Given the description of an element on the screen output the (x, y) to click on. 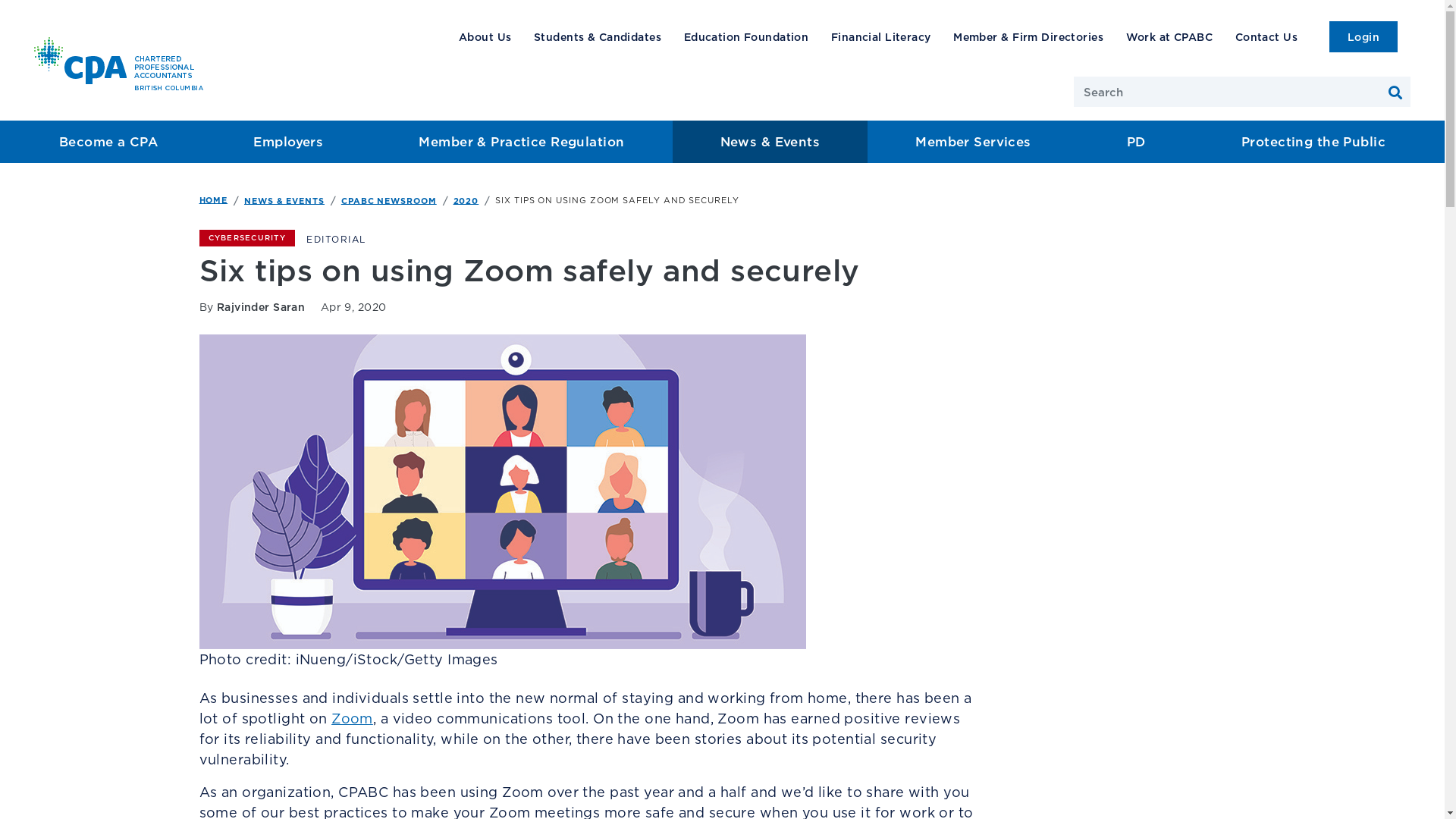
CPABC NEWSROOM Element type: text (388, 199)
NEWS & EVENTS Element type: text (284, 199)
Contact Us Element type: text (1266, 36)
EDITORIAL Element type: text (336, 239)
PD Element type: text (1136, 141)
Employers Element type: text (287, 141)
Member & Firm Directories Element type: text (1027, 36)
Education Foundation Element type: text (746, 36)
News & Events Element type: text (770, 141)
HOME Element type: text (212, 198)
Work at CPABC Element type: text (1169, 36)
Become a CPA Element type: text (108, 141)
2020 Element type: text (466, 199)
Login Element type: text (1363, 36)
Submit Element type: text (1394, 92)
Member & Practice Regulation Element type: text (520, 141)
Students & Candidates Element type: text (597, 36)
About Us Element type: text (484, 36)
Zoom Element type: text (352, 718)
Financial Literacy Element type: text (880, 36)
Member Services Element type: text (973, 141)
Protecting the Public Element type: text (1313, 141)
CYBERSECURITY Element type: text (246, 237)
